Given the description of an element on the screen output the (x, y) to click on. 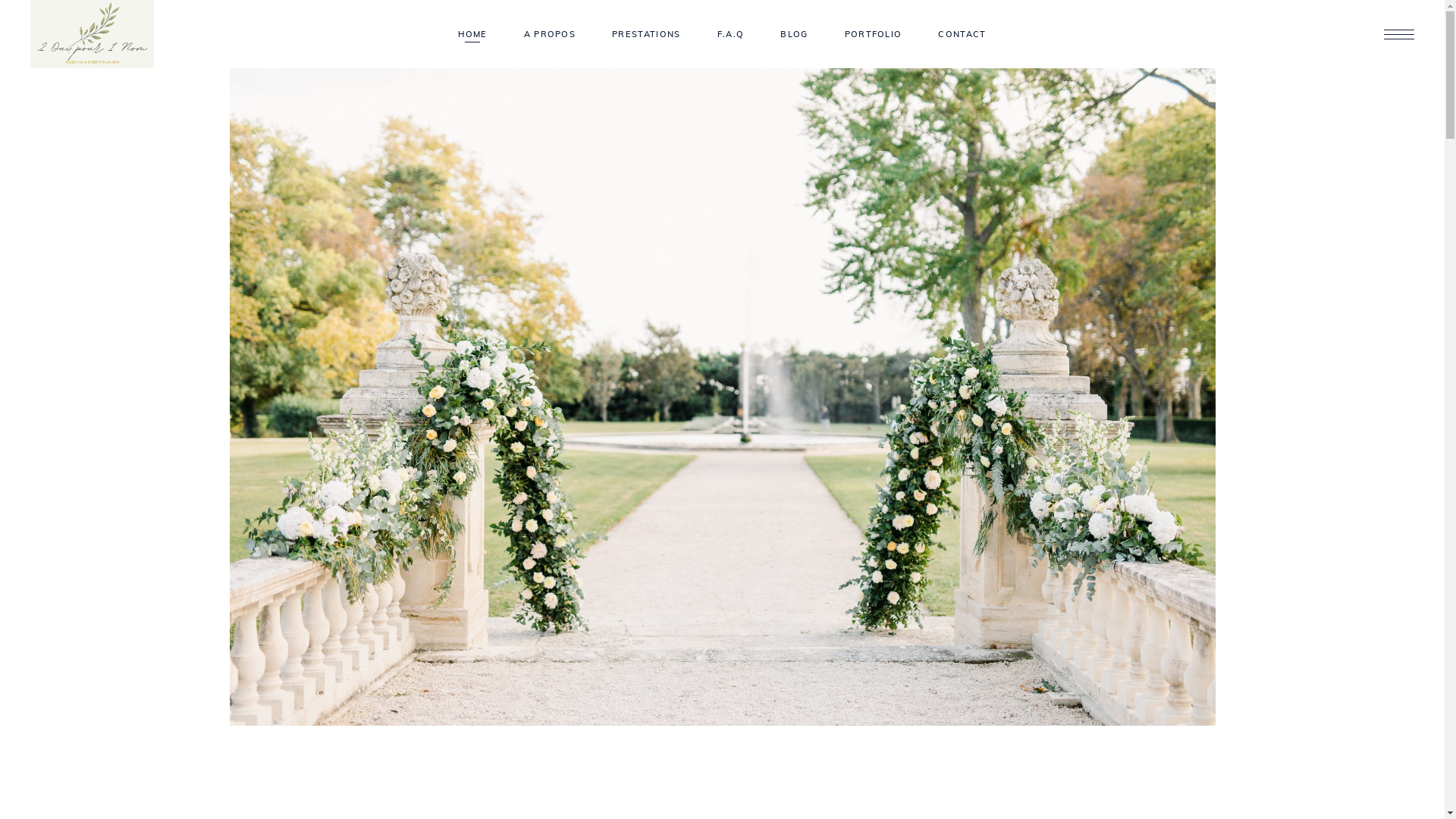
F.A.Q Element type: text (730, 34)
CONTACT Element type: text (961, 34)
HOME Element type: text (472, 34)
BLOG Element type: text (793, 34)
PRESTATIONS Element type: text (646, 34)
PORTFOLIO Element type: text (873, 34)
A PROPOS Element type: text (549, 34)
